Given the description of an element on the screen output the (x, y) to click on. 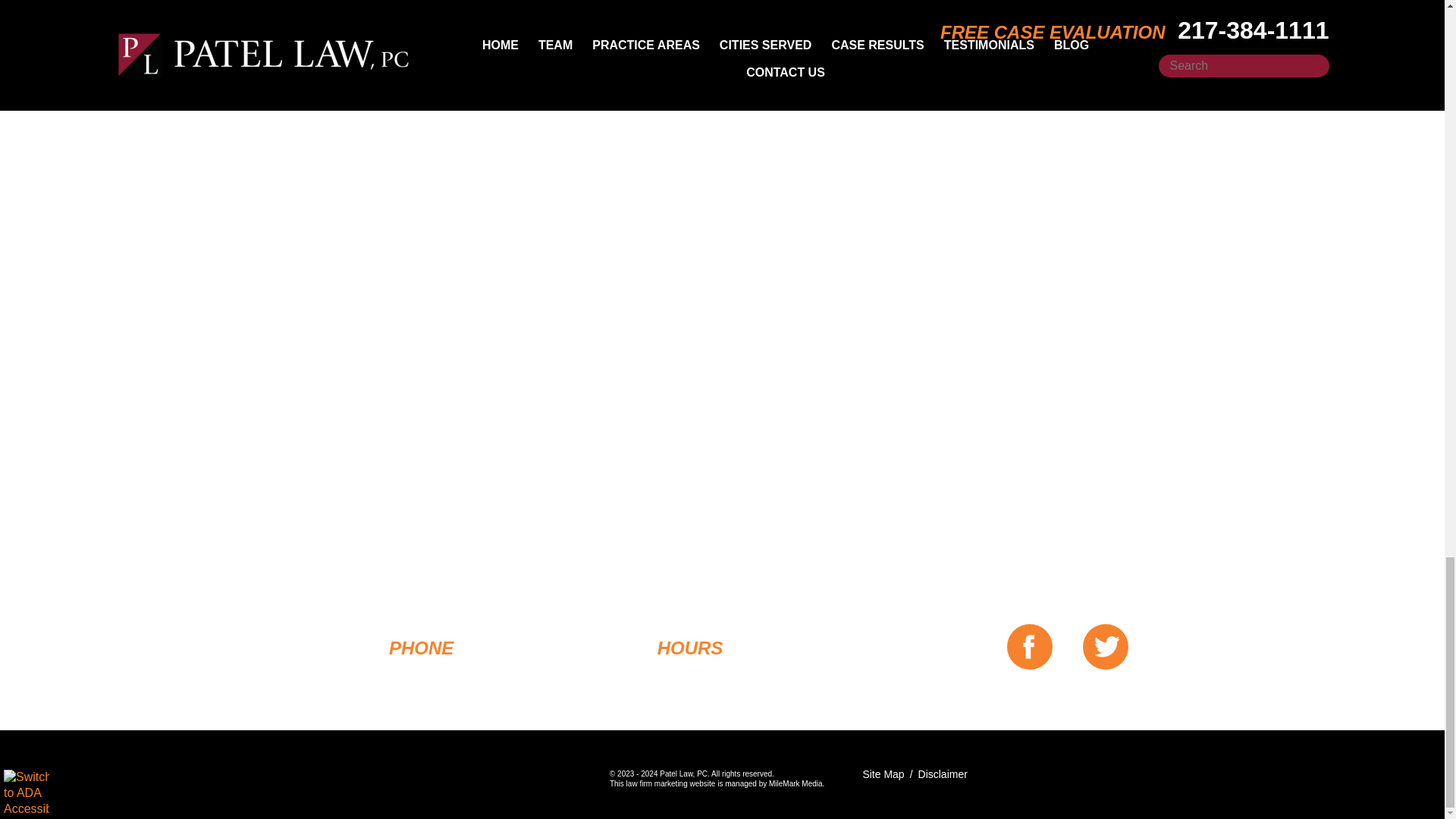
Twitter (273, 69)
Facebook (262, 69)
LinkedIn (284, 69)
